Given the description of an element on the screen output the (x, y) to click on. 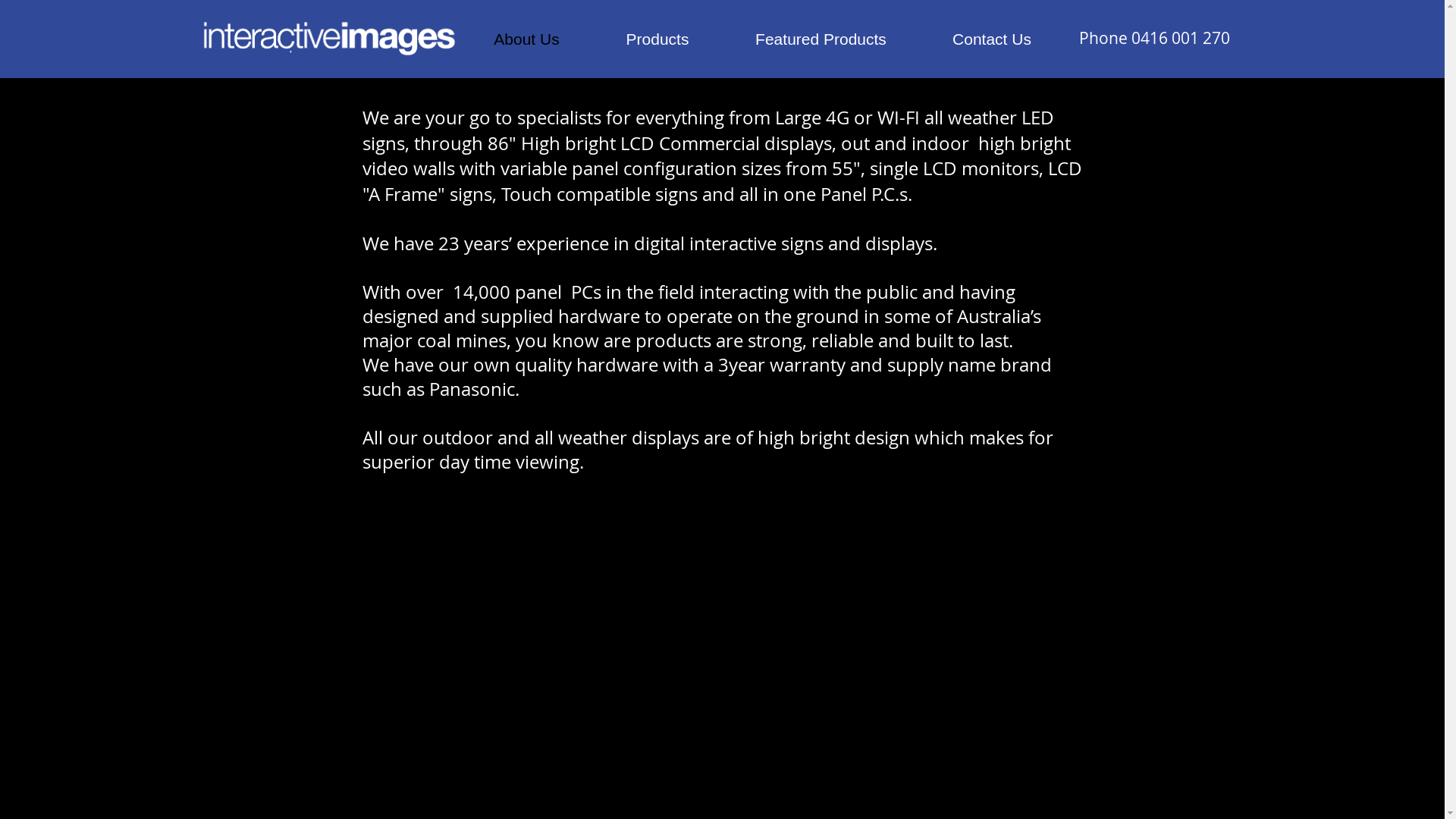
About Us Element type: text (527, 39)
Products Element type: text (657, 39)
 Phone 0416 001 270 Element type: text (1152, 37)
Featured Products Element type: text (820, 39)
Contact Us Element type: text (991, 39)
